Given the description of an element on the screen output the (x, y) to click on. 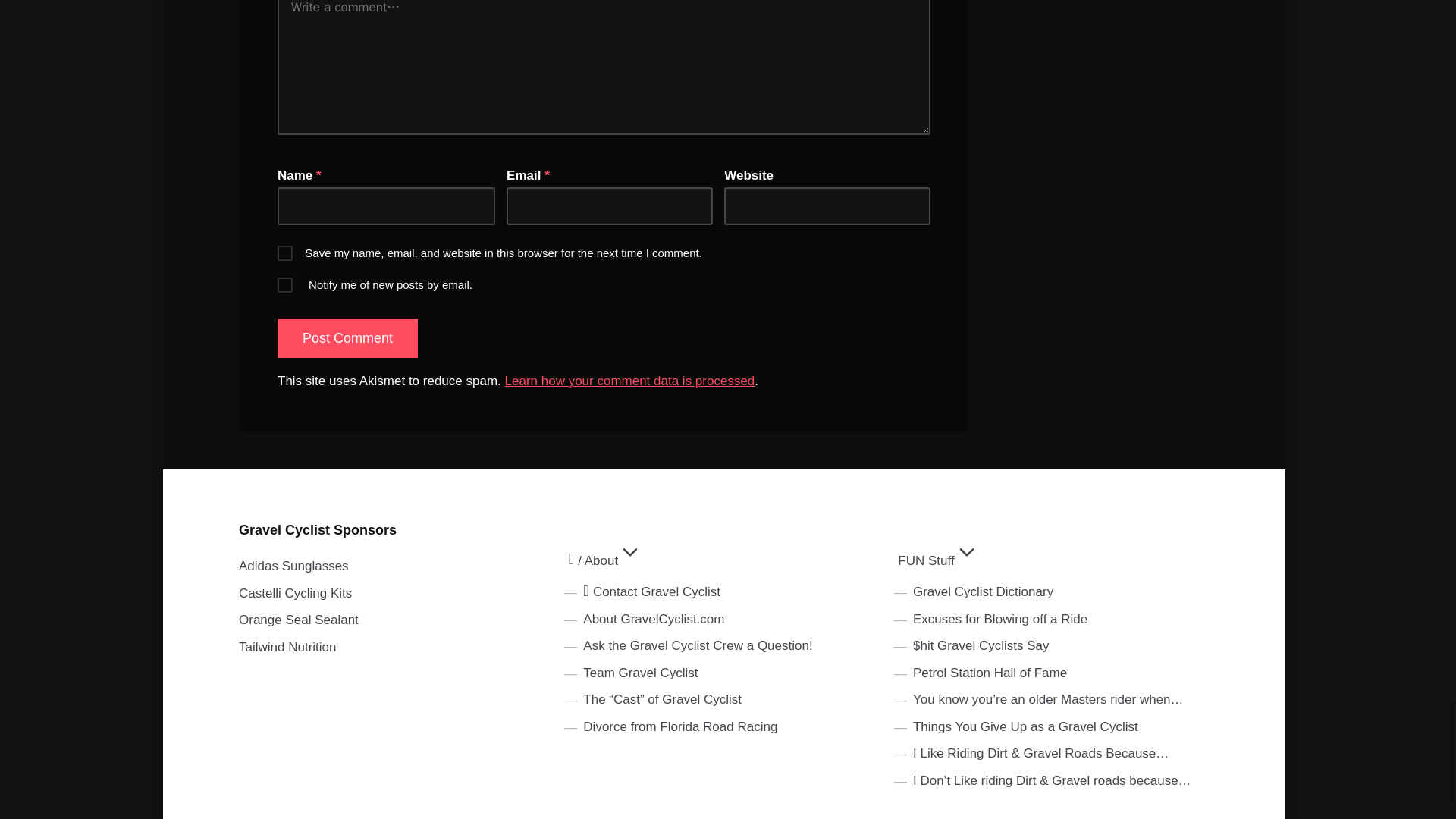
yes (285, 253)
subscribe (285, 284)
Post Comment (347, 338)
